Given the description of an element on the screen output the (x, y) to click on. 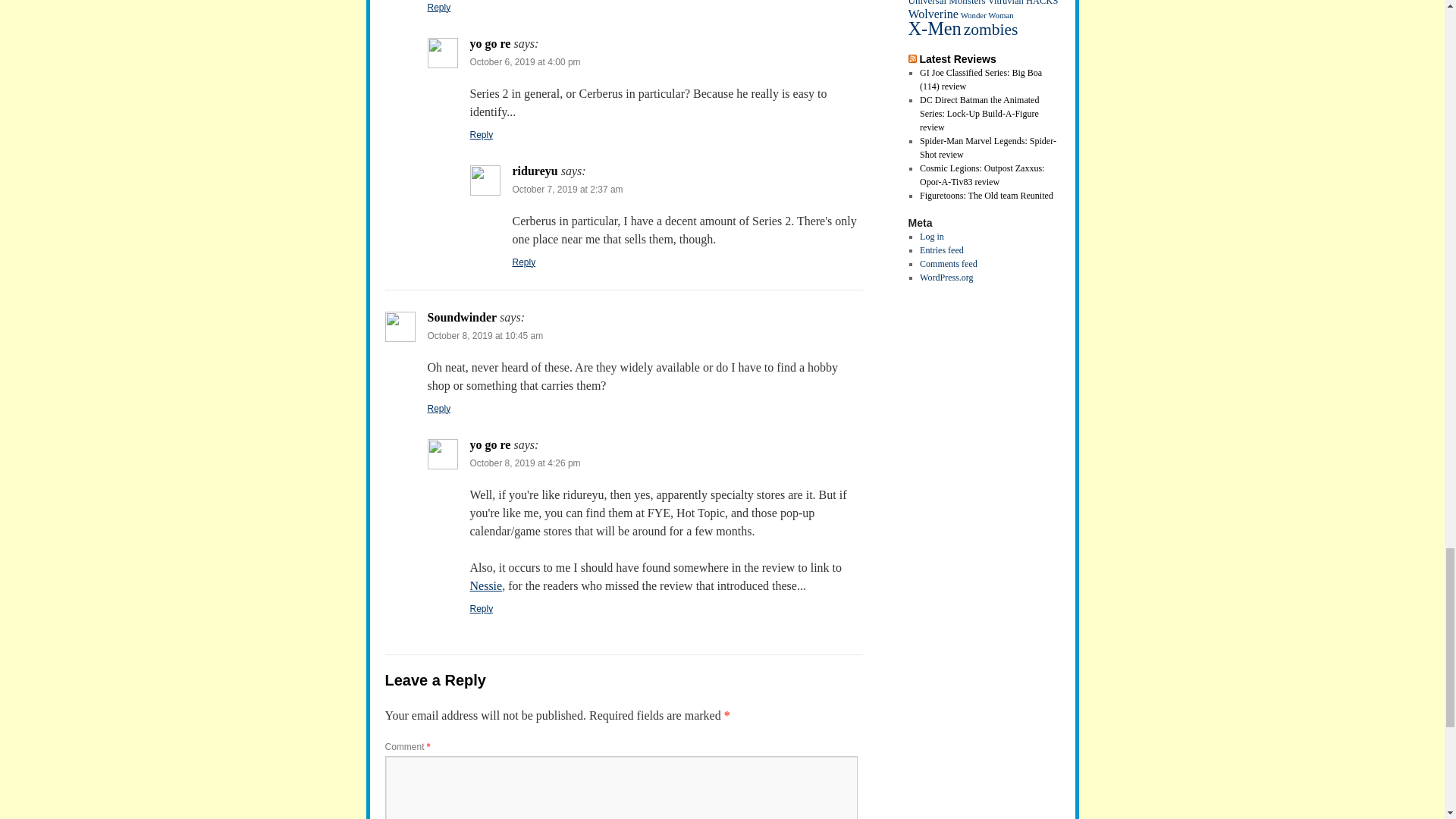
October 8, 2019 at 4:26 pm (525, 462)
Reply (481, 608)
Reply (523, 262)
October 7, 2019 at 2:37 am (567, 189)
Reply (481, 134)
Nessie (486, 585)
Reply (439, 7)
Reply (439, 408)
October 6, 2019 at 4:00 pm (525, 61)
October 8, 2019 at 10:45 am (485, 335)
